Given the description of an element on the screen output the (x, y) to click on. 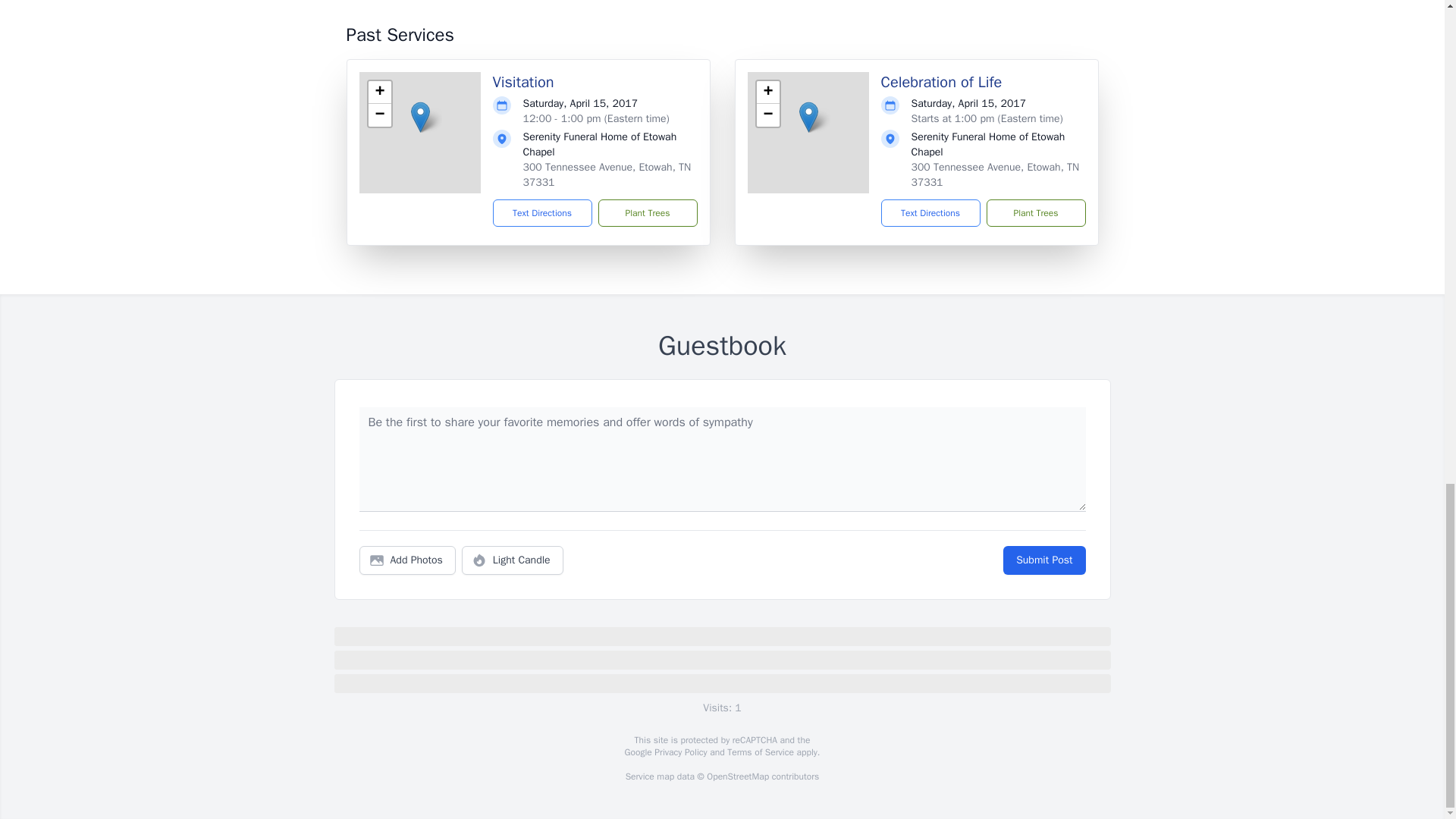
Submit Post (1043, 560)
300 Tennessee Avenue, Etowah, TN 37331 (995, 174)
Plant Trees (646, 212)
Light Candle (512, 560)
Zoom in (379, 92)
Text Directions (542, 212)
Text Directions (929, 212)
Add Photos (407, 560)
Privacy Policy (679, 752)
Plant Trees (1034, 212)
300 Tennessee Avenue, Etowah, TN 37331 (606, 174)
Terms of Service (759, 752)
Zoom out (767, 115)
Zoom in (767, 92)
Zoom out (379, 115)
